Given the description of an element on the screen output the (x, y) to click on. 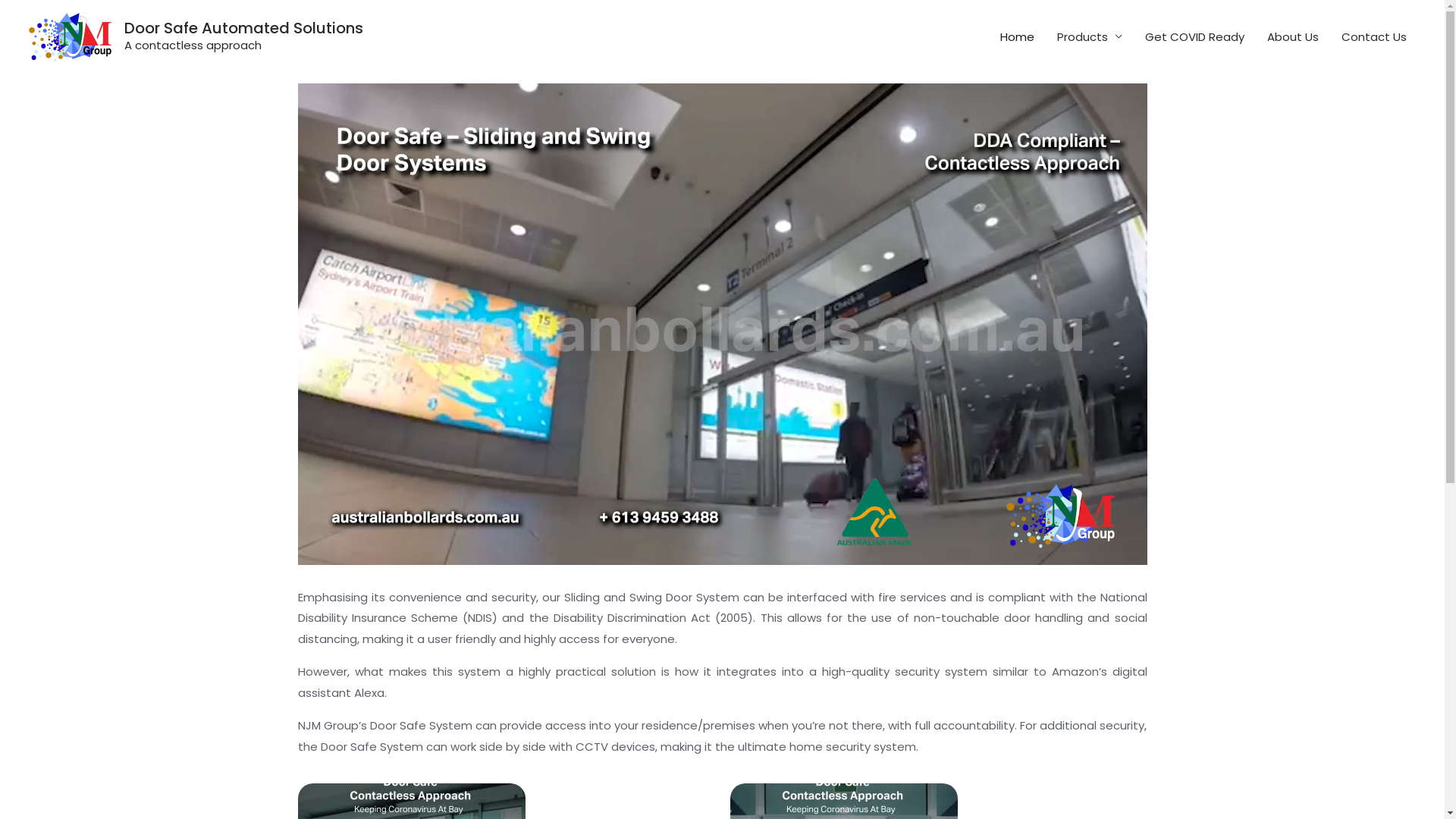
Door Safe Automated Solutions Element type: text (243, 27)
About Us Element type: text (1292, 36)
Products Element type: text (1089, 36)
Get COVID Ready Element type: text (1194, 36)
Contact Us Element type: text (1374, 36)
Home Element type: text (1016, 36)
